Given the description of an element on the screen output the (x, y) to click on. 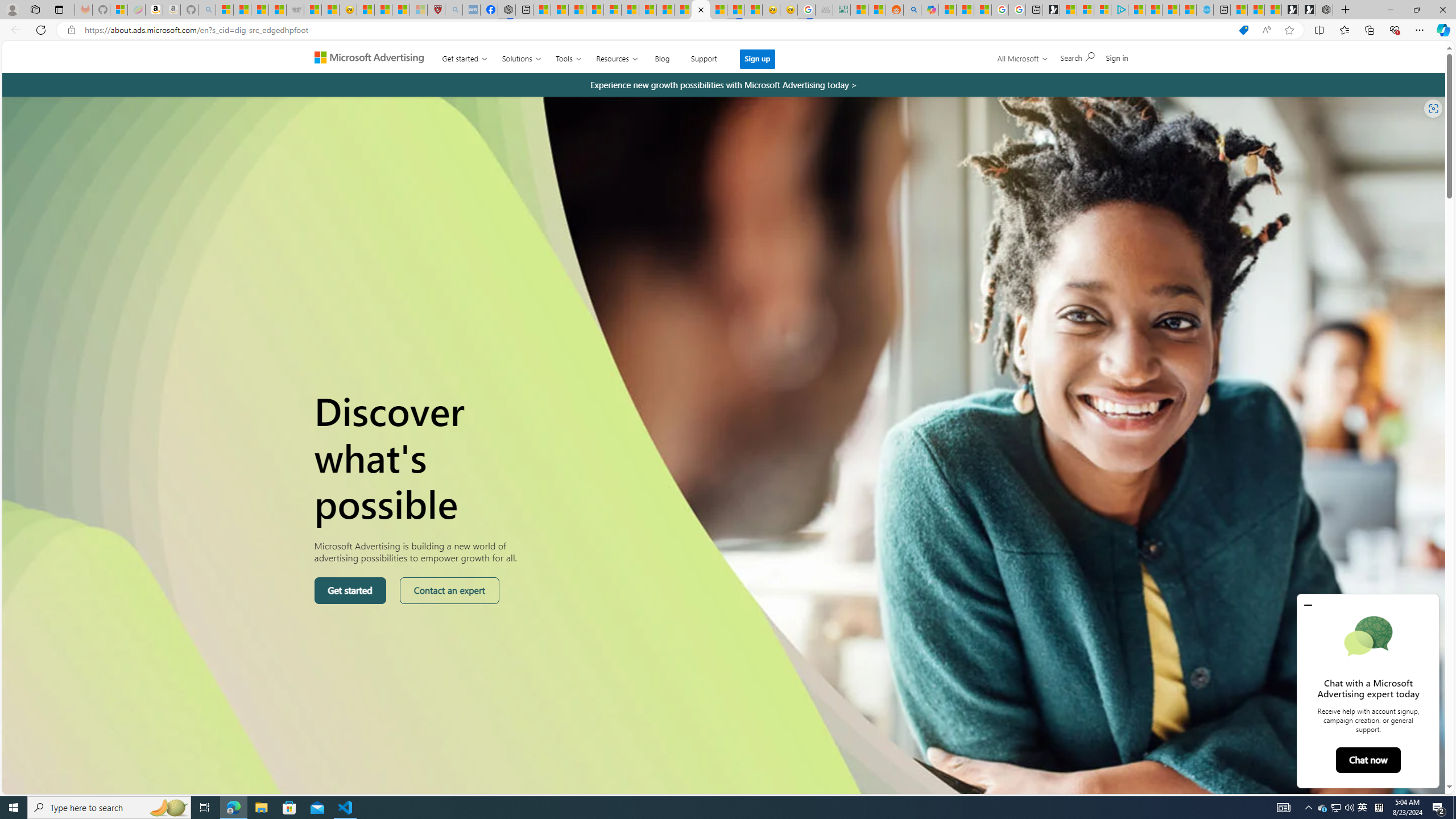
Home | Sky Blue Bikes - Sky Blue Bikes (1204, 9)
